Given the description of an element on the screen output the (x, y) to click on. 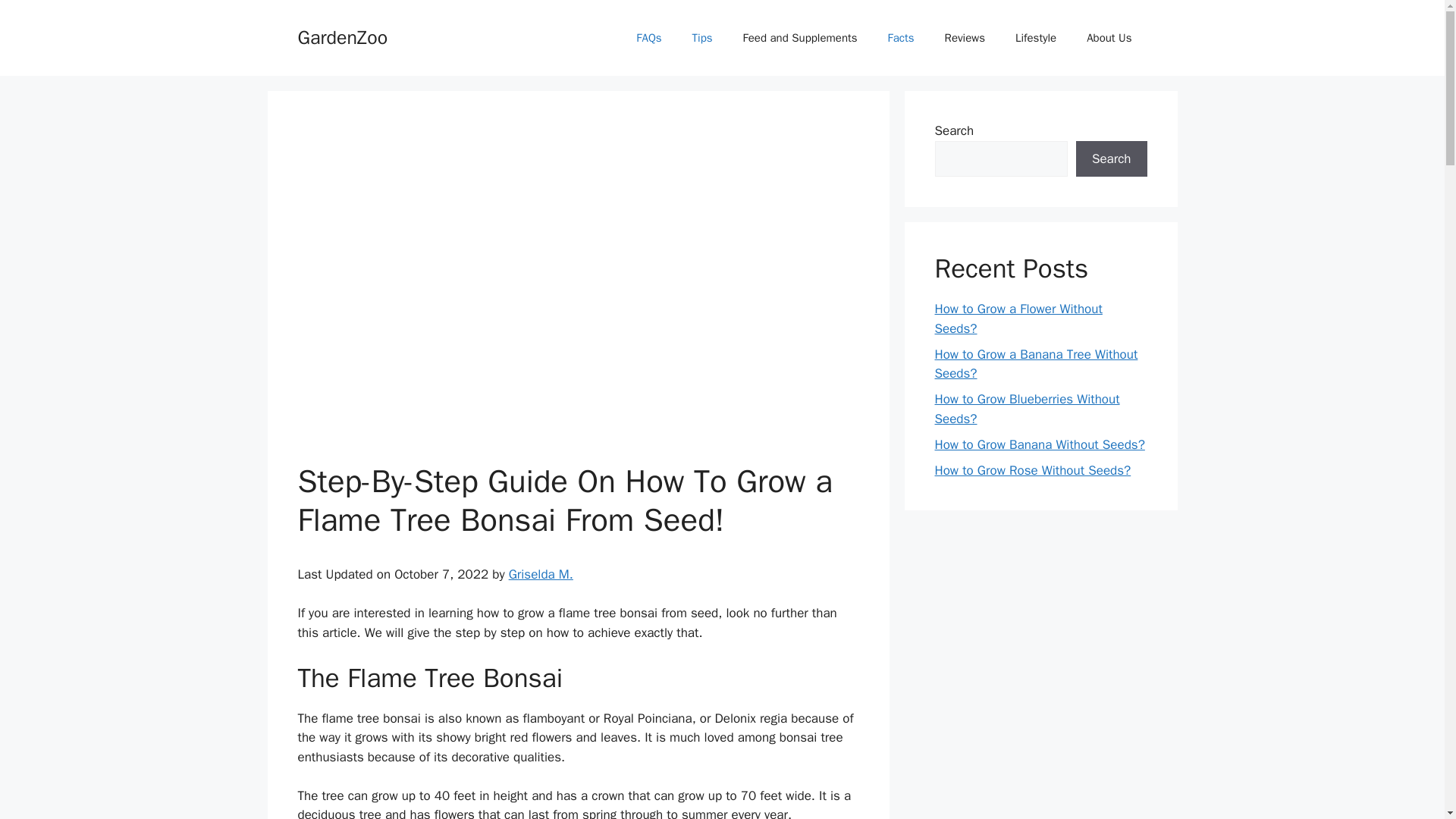
How to Grow a Banana Tree Without Seeds? (1035, 363)
How to Grow Rose Without Seeds? (1032, 470)
How to Grow a Flower Without Seeds? (1018, 318)
Tips (702, 37)
About Us (1109, 37)
Griselda M. (540, 574)
FAQs (649, 37)
GardenZoo (342, 37)
How to Grow Banana Without Seeds? (1039, 444)
Lifestyle (1035, 37)
